Given the description of an element on the screen output the (x, y) to click on. 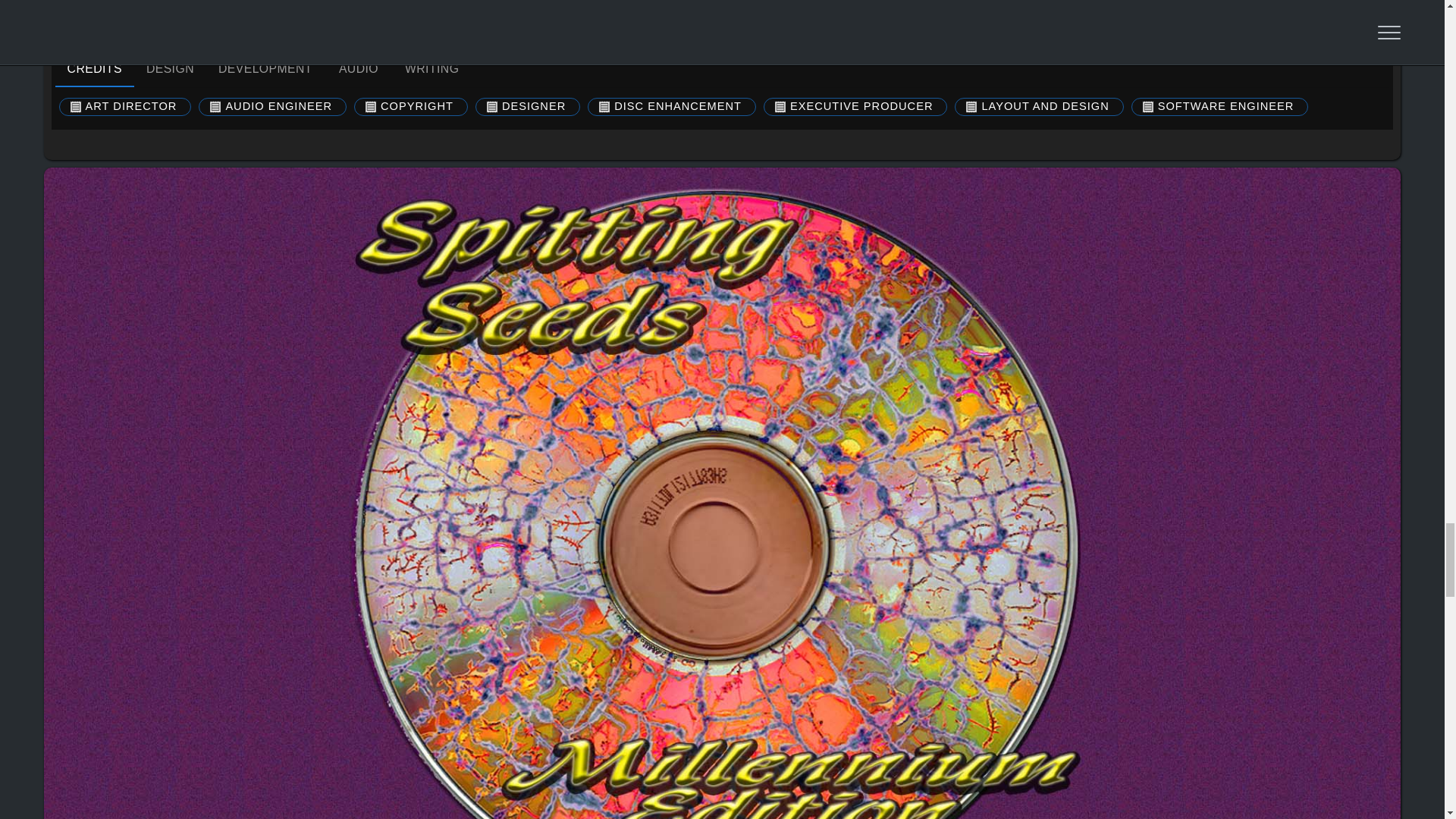
CREDITS (94, 68)
DESIGN (169, 68)
WRITING (722, 68)
AUDIO (431, 68)
DEVELOPMENT (358, 68)
